Given the description of an element on the screen output the (x, y) to click on. 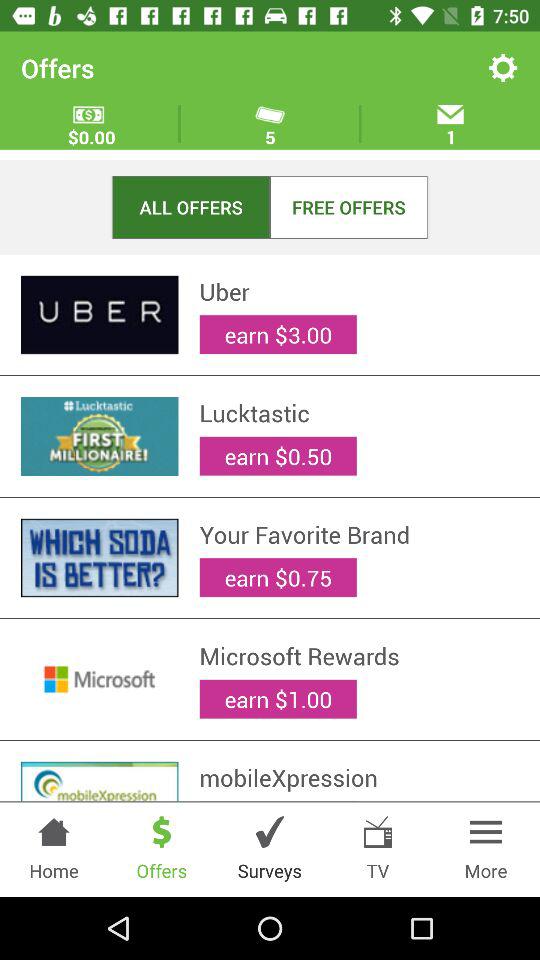
flip to lucktastic icon (359, 413)
